Given the description of an element on the screen output the (x, y) to click on. 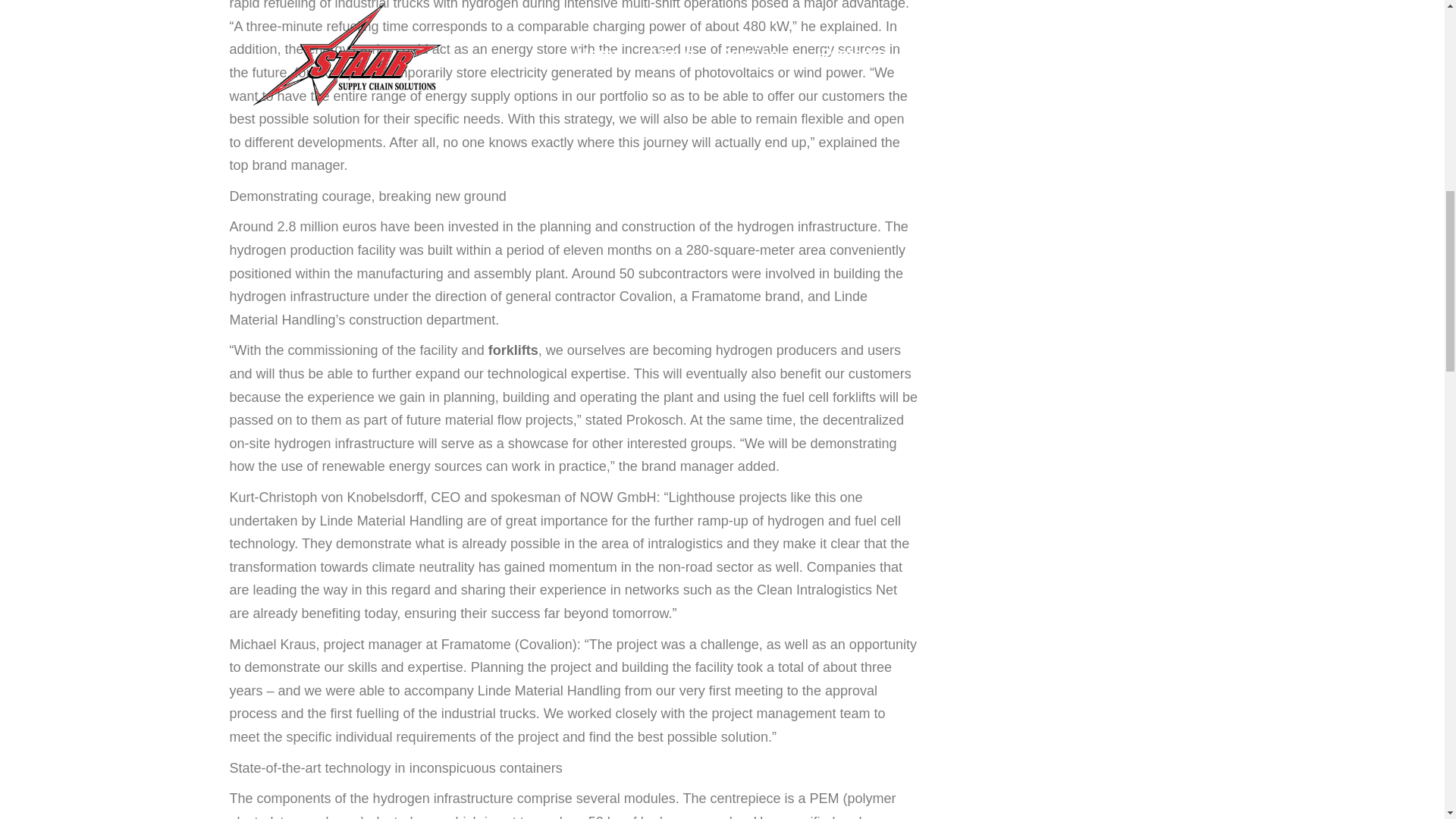
forklifts (512, 350)
